Given the description of an element on the screen output the (x, y) to click on. 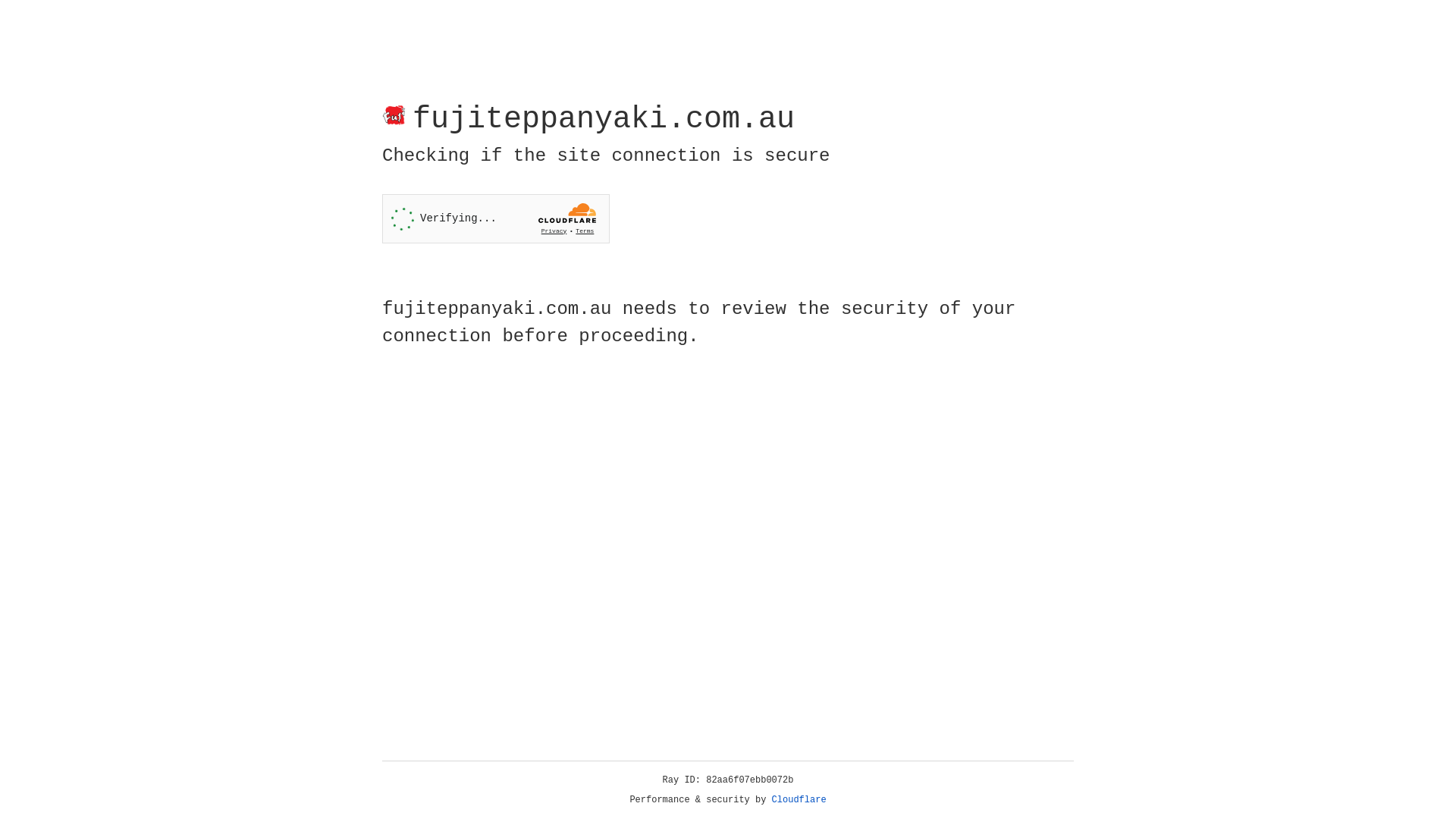
Cloudflare Element type: text (798, 799)
Widget containing a Cloudflare security challenge Element type: hover (495, 218)
